Given the description of an element on the screen output the (x, y) to click on. 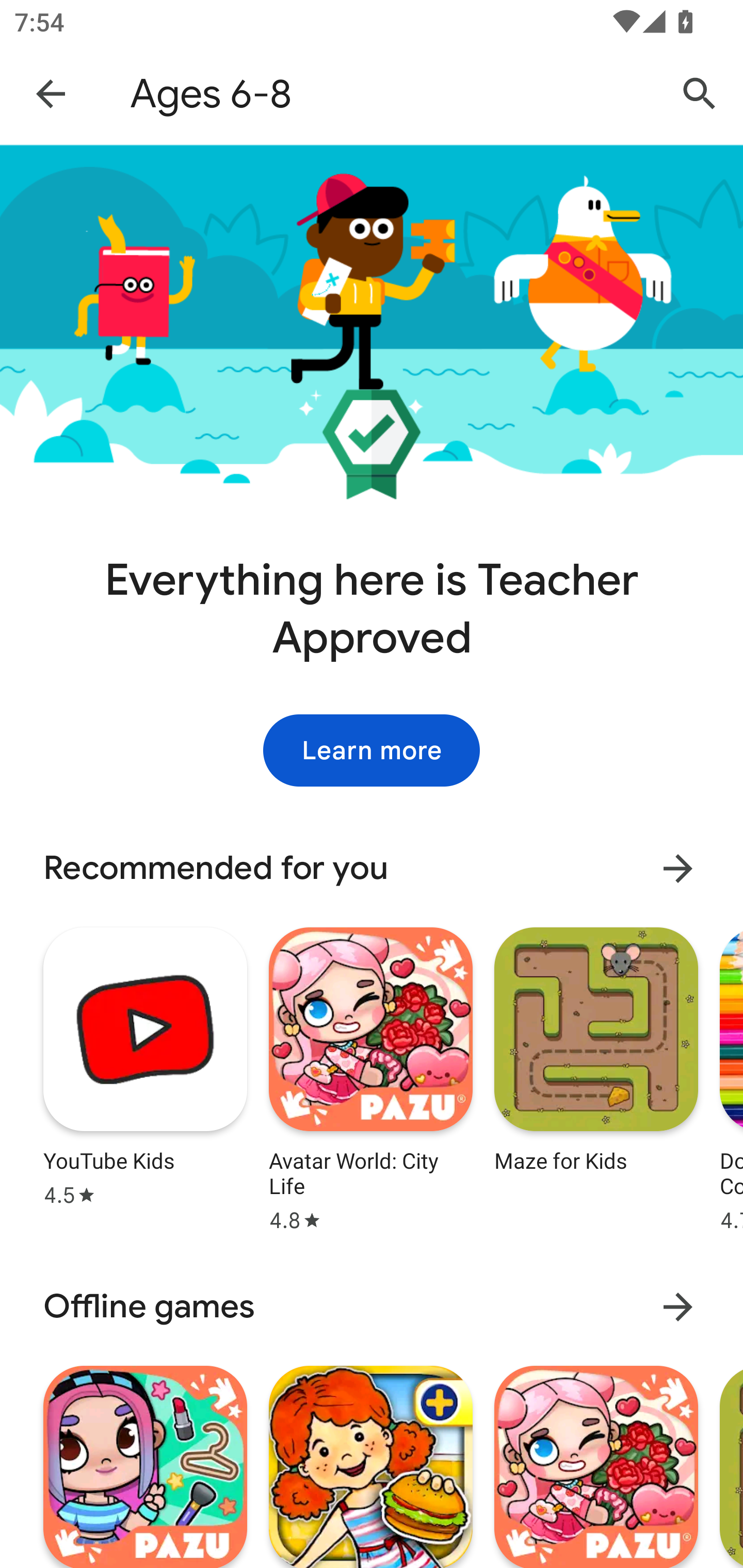
Navigate up (50, 92)
Search Google Play (699, 93)
More results for Recommended for you (677, 868)
App: YouTube Kids
Star rating: 4.5


 (144, 1076)
App: Avatar World: City Life
Star rating: 4.8


 (370, 1076)
App: Maze for Kids


 (595, 1076)
Offline games
 More results for Offline games (371, 1306)
More results for Offline games (677, 1306)
App: My PlayHome Plus
Star rating: 4.1


 (370, 1463)
App: Avatar World: City Life
Star rating: 4.8


 (595, 1463)
